Given the description of an element on the screen output the (x, y) to click on. 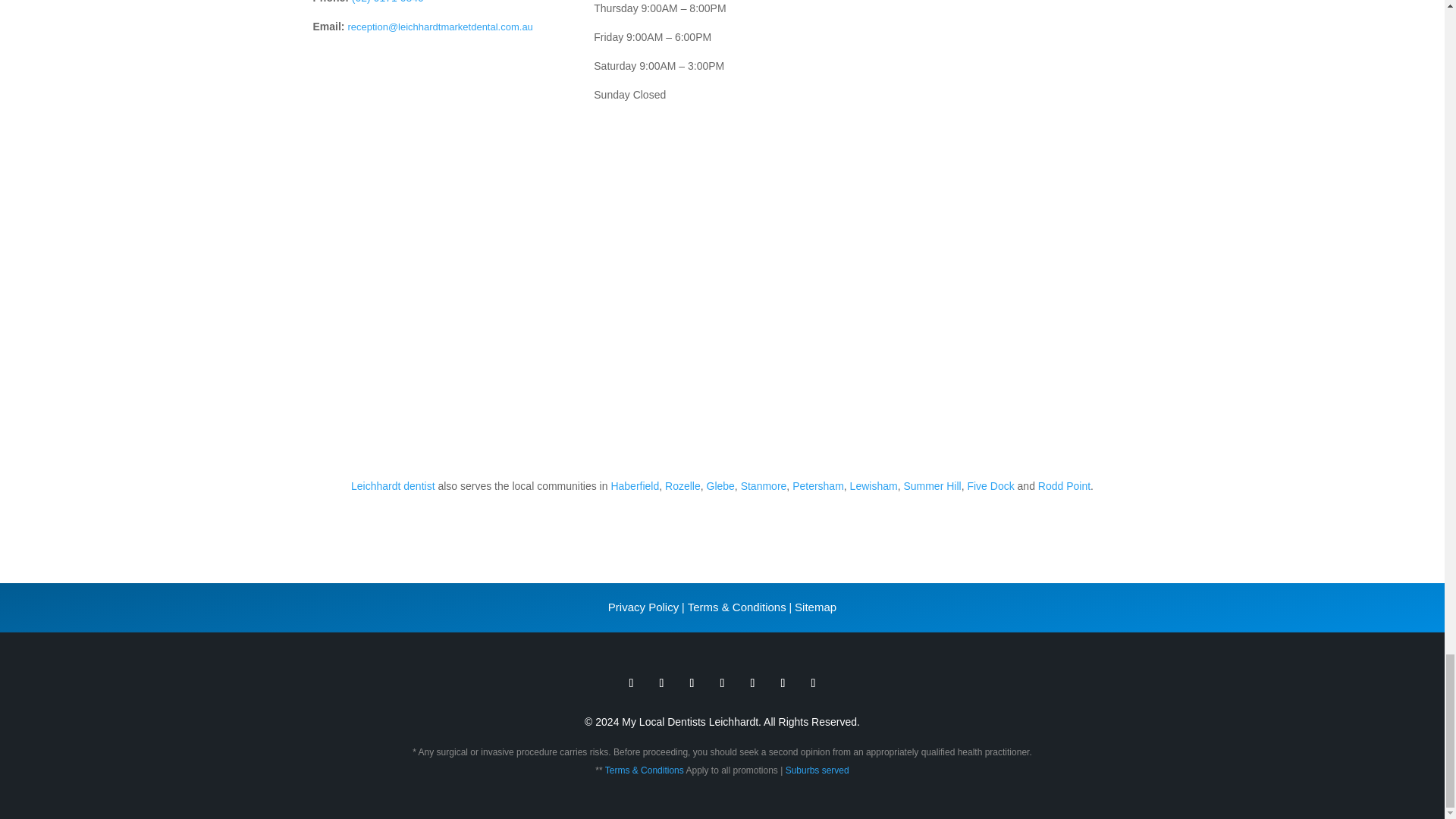
Follow on Instagram (721, 682)
Follow on LinkedIn (812, 682)
Follow on Pinterest (782, 682)
Follow on Facebook (630, 682)
Follow on X (660, 682)
Follow on Youtube (751, 682)
Follow on google-plus (691, 682)
